Given the description of an element on the screen output the (x, y) to click on. 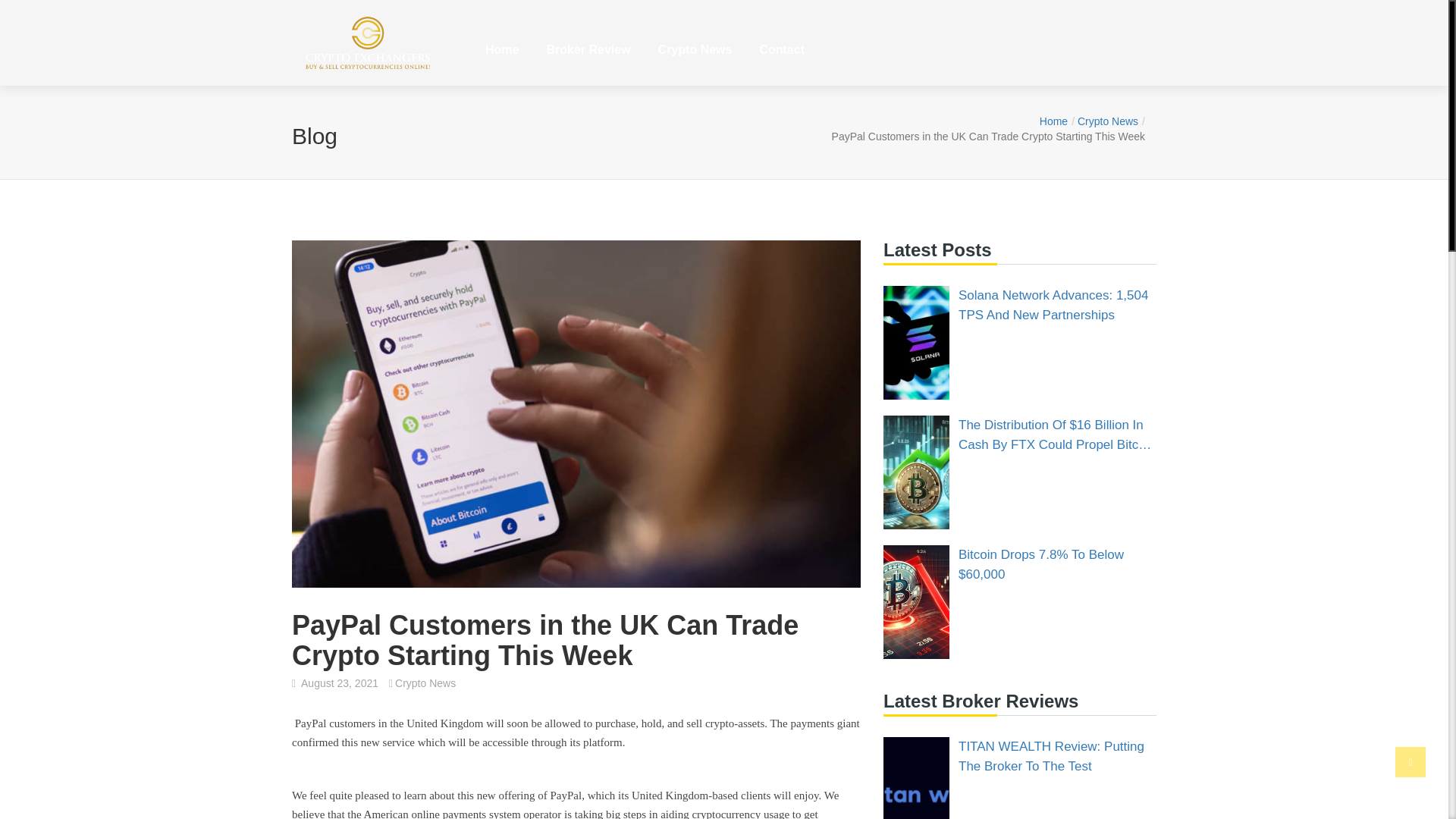
Contact (781, 50)
Broker Review (587, 50)
Home (1056, 121)
Crypto News (1110, 121)
Solana Network Advances: 1,504 TPS And New Partnerships (1057, 305)
Crypto News (695, 50)
Crypto News (424, 683)
